Given the description of an element on the screen output the (x, y) to click on. 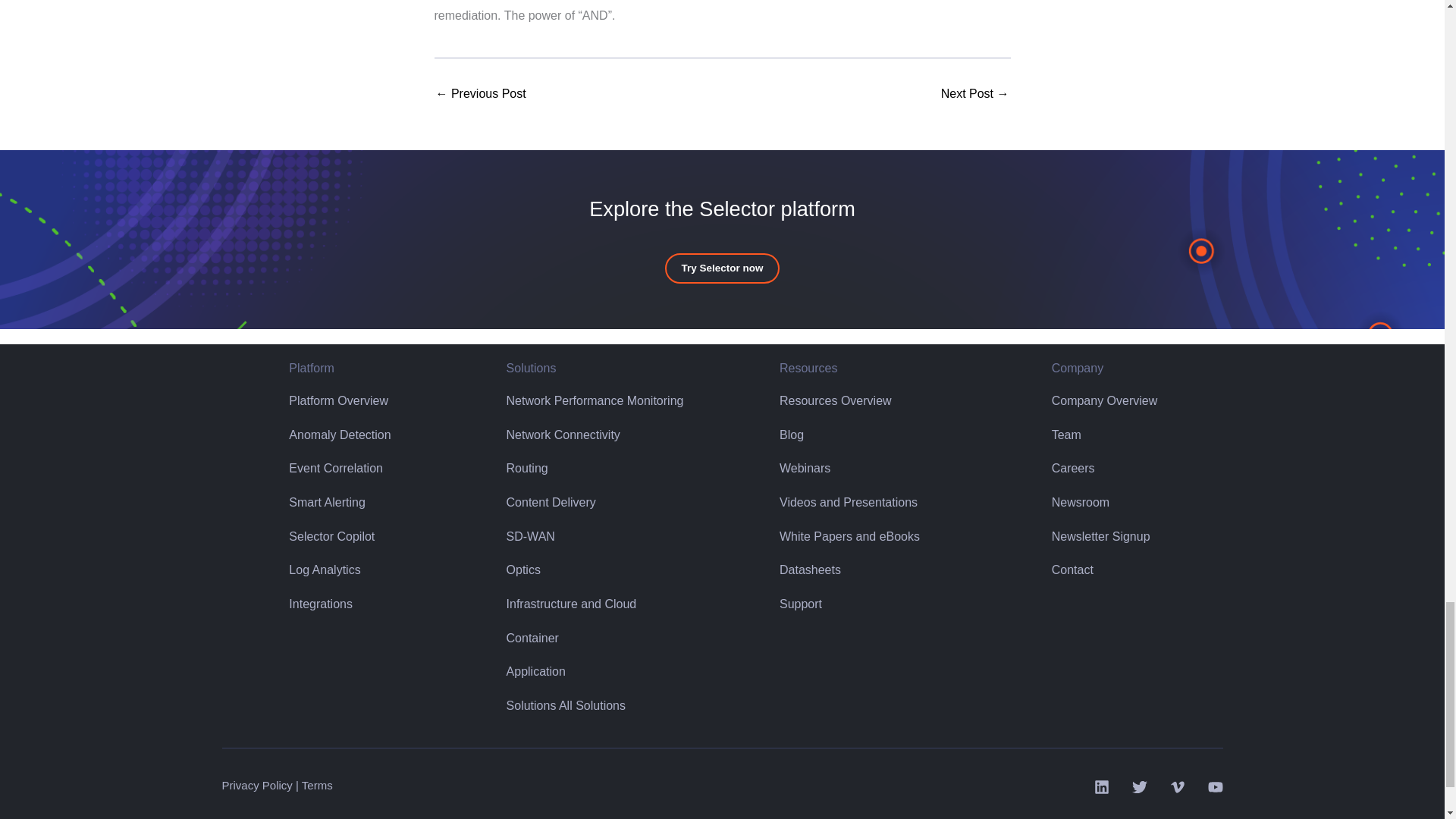
AIOps: The Next Generation of Data Whisperers (480, 93)
AIOps for Experts (974, 93)
